Given the description of an element on the screen output the (x, y) to click on. 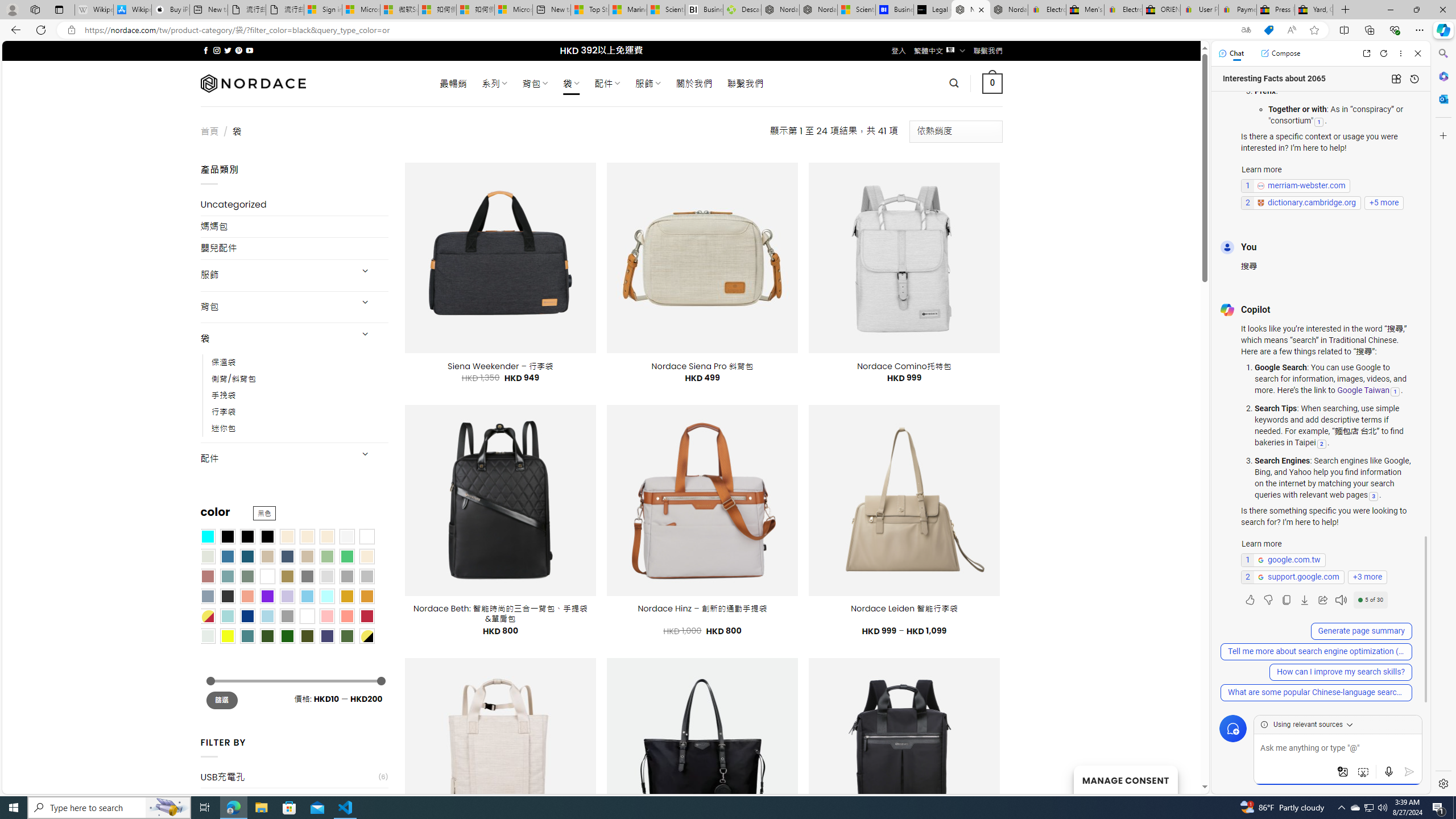
Follow on Facebook (205, 50)
